Given the description of an element on the screen output the (x, y) to click on. 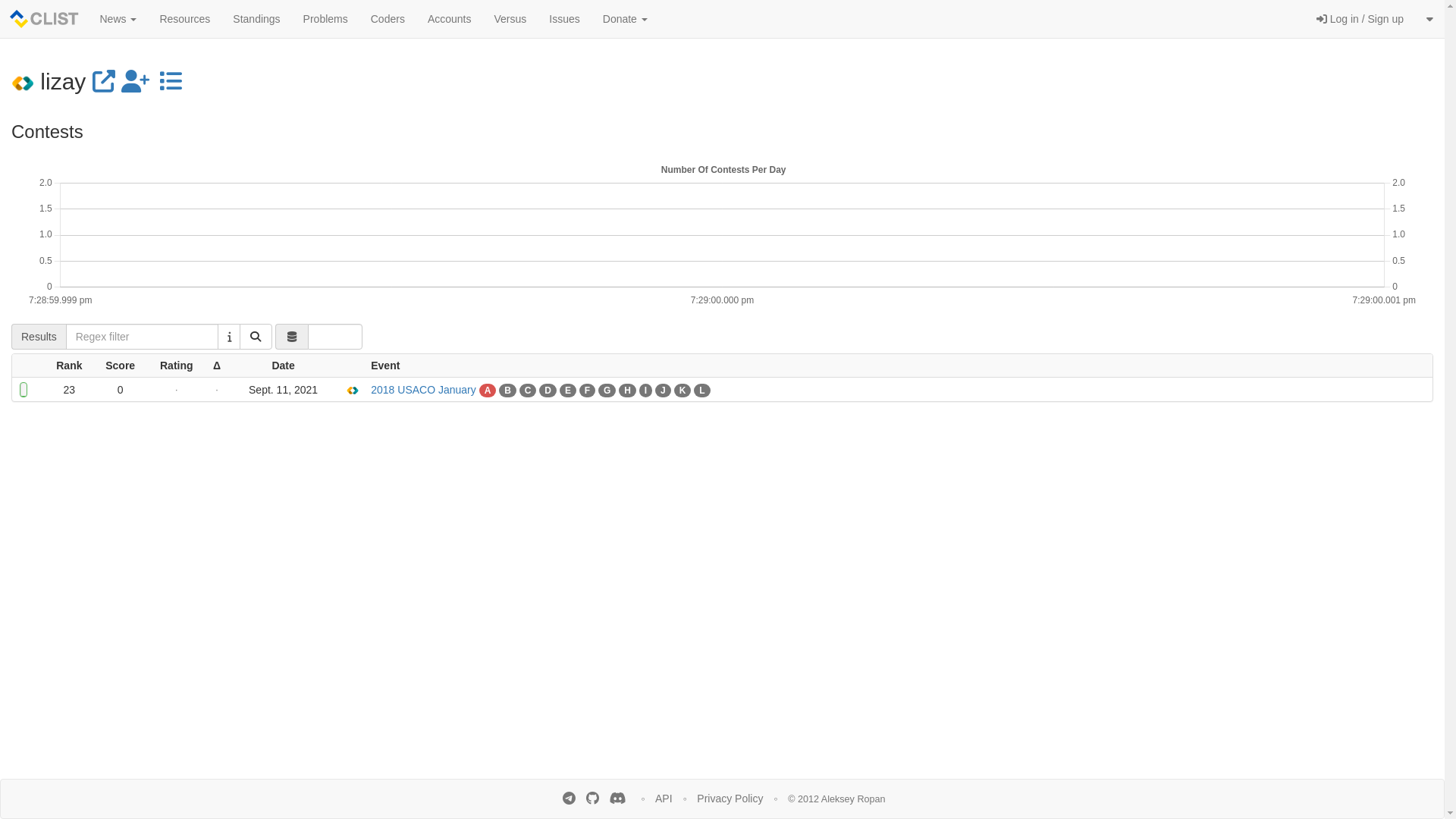
Issues Element type: text (563, 18)
List Element type: hover (170, 81)
Donate Element type: text (624, 18)
Aleksey Ropan Element type: text (853, 798)
H Element type: text (627, 389)
J Element type: text (663, 389)
E Element type: text (567, 389)
I Element type: text (645, 389)
C Element type: text (527, 389)
D Element type: text (547, 389)
Coders Element type: text (387, 18)
K Element type: text (682, 389)
Resources Element type: text (184, 18)
Privacy Policy Element type: text (729, 798)
Problems Element type: text (325, 18)
 Log in / Sign up Element type: text (1360, 18)
L Element type: text (701, 389)
F Element type: text (587, 389)
API Element type: text (663, 798)
Top: 92.0%<br>Rank: 23<br>Total: 25 Element type: hover (26, 385)
Field Element type: hover (291, 336)
Standings Element type: text (256, 18)
Versus Element type: text (509, 18)
Search Element type: hover (256, 336)
Accounts Element type: text (449, 18)
eolymp.com Element type: hover (352, 389)
A Element type: text (487, 389)
eolymp.com Element type: hover (22, 81)
News Element type: text (117, 18)
B Element type: text (507, 389)
2018 USACO January Element type: text (423, 389)
G Element type: text (606, 389)
